Given the description of an element on the screen output the (x, y) to click on. 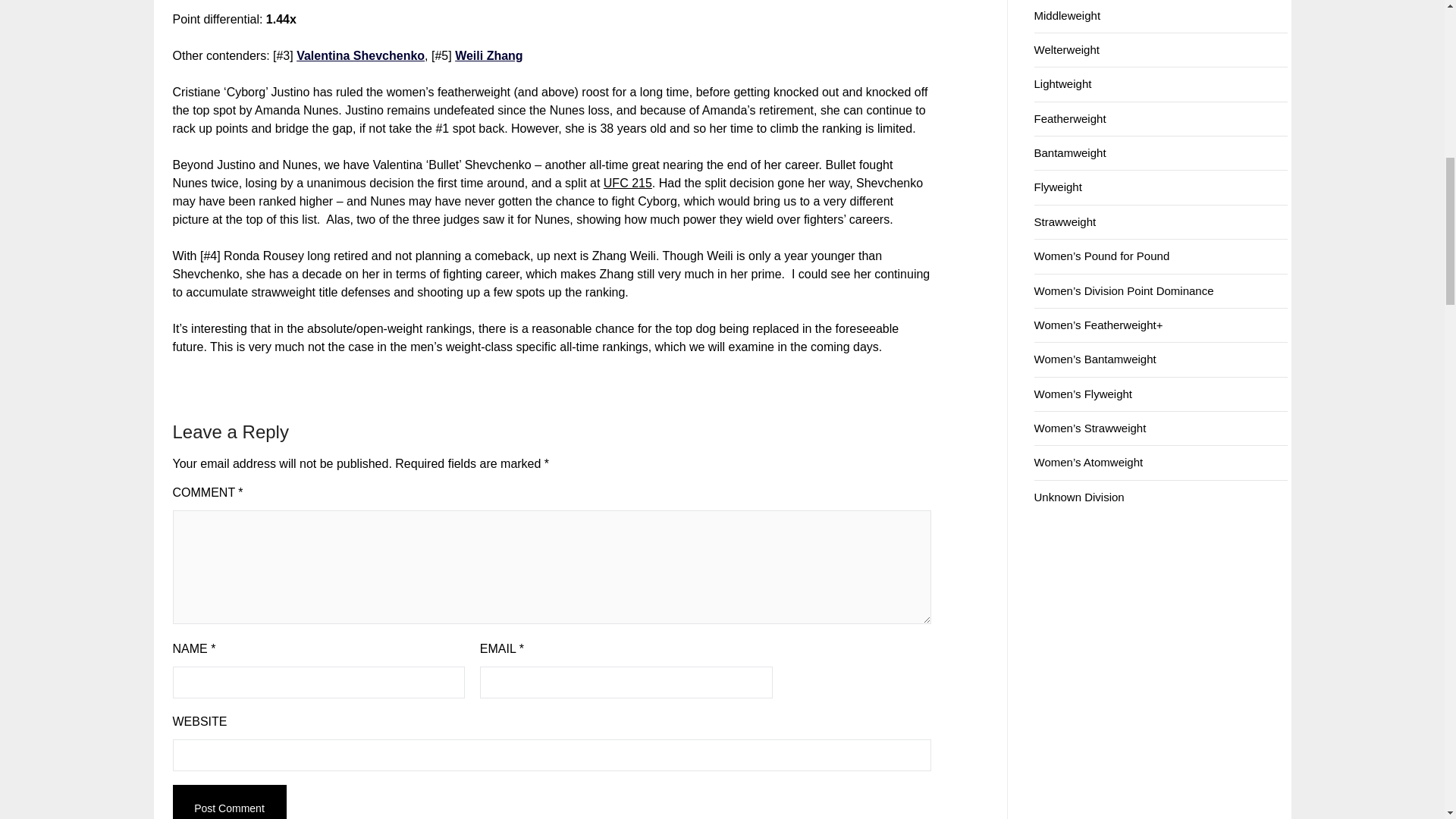
view Weili Zhang's ranking profile (488, 55)
view Valentina Shevchenko's ranking profile (361, 55)
Post Comment (229, 801)
